Given the description of an element on the screen output the (x, y) to click on. 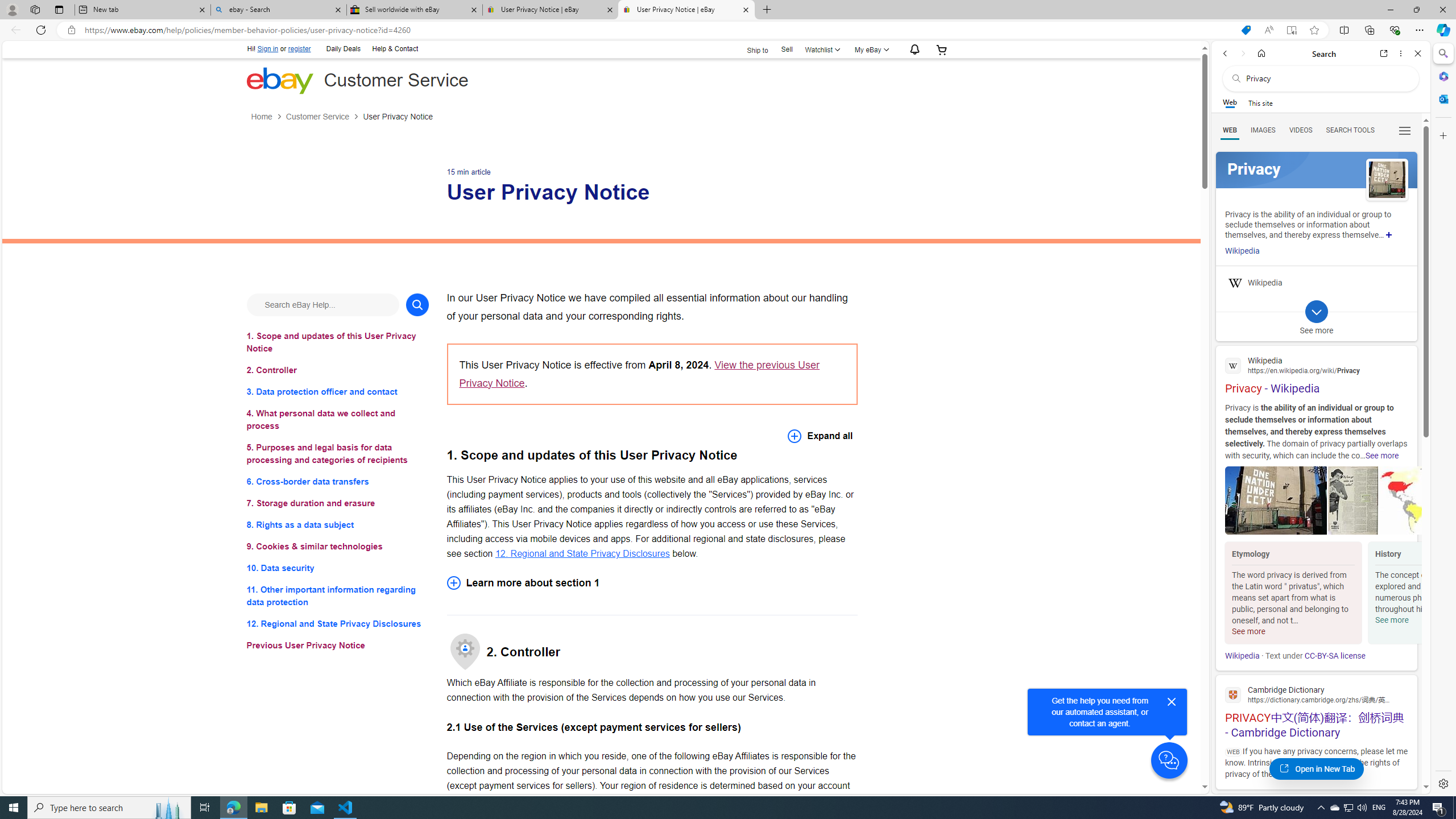
Search the web (1326, 78)
AutomationID: gh-eb-Alerts (912, 49)
6. Cross-border data transfers (337, 481)
Global web icon (1232, 694)
Previous User Privacy Notice (337, 645)
Help & Contact (394, 49)
Class: b_exp_chevron_svg b_expmob_chev (1315, 311)
11. Other important information regarding data protection (337, 596)
CC-BY-SA license (1334, 655)
